Given the description of an element on the screen output the (x, y) to click on. 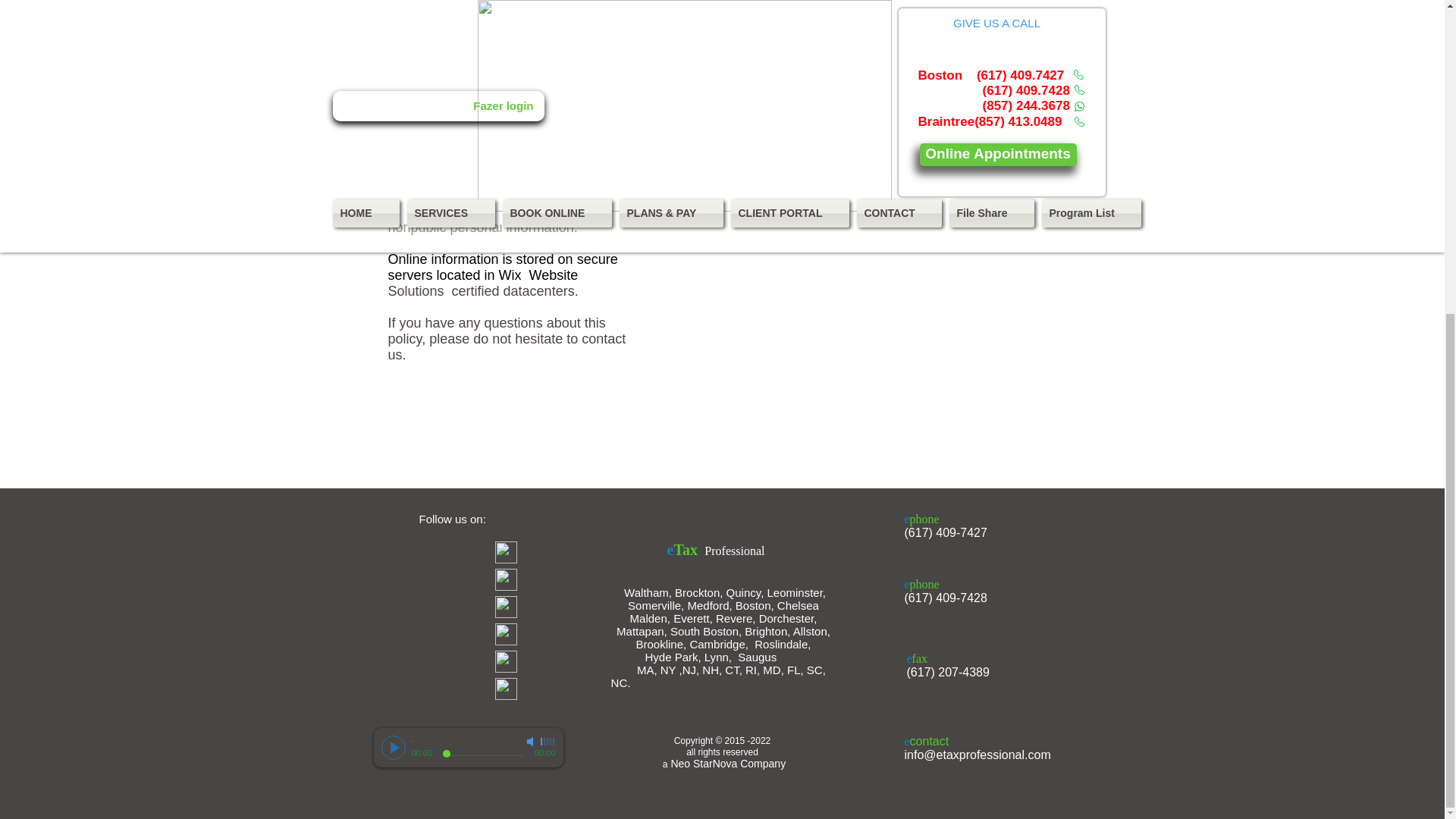
0 (482, 753)
eTax  (685, 551)
